Given the description of an element on the screen output the (x, y) to click on. 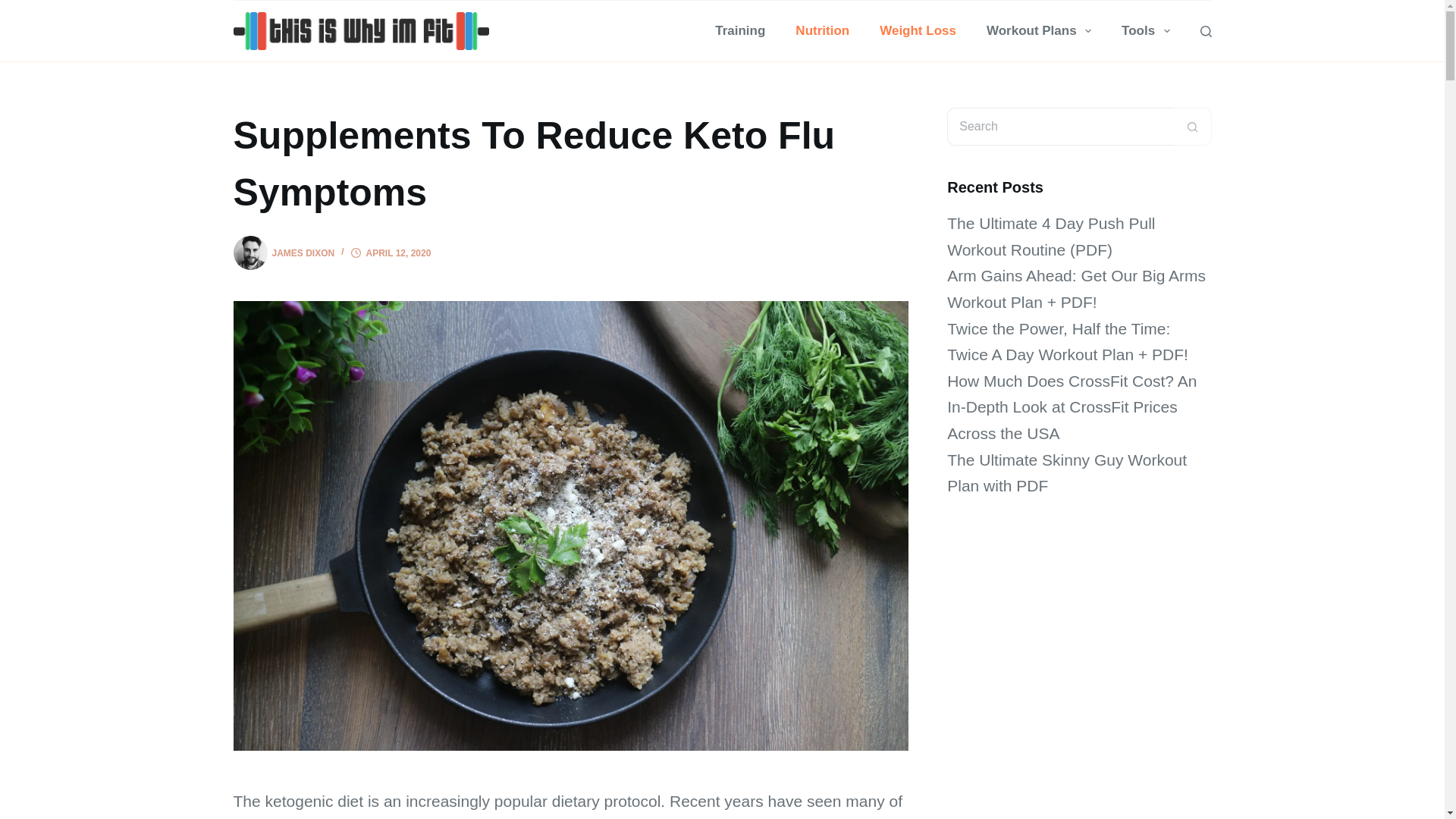
Search for... (1060, 126)
Posts by James Dixon (302, 253)
Supplements To Reduce Keto Flu Symptoms (570, 164)
Skip to content (15, 7)
